Given the description of an element on the screen output the (x, y) to click on. 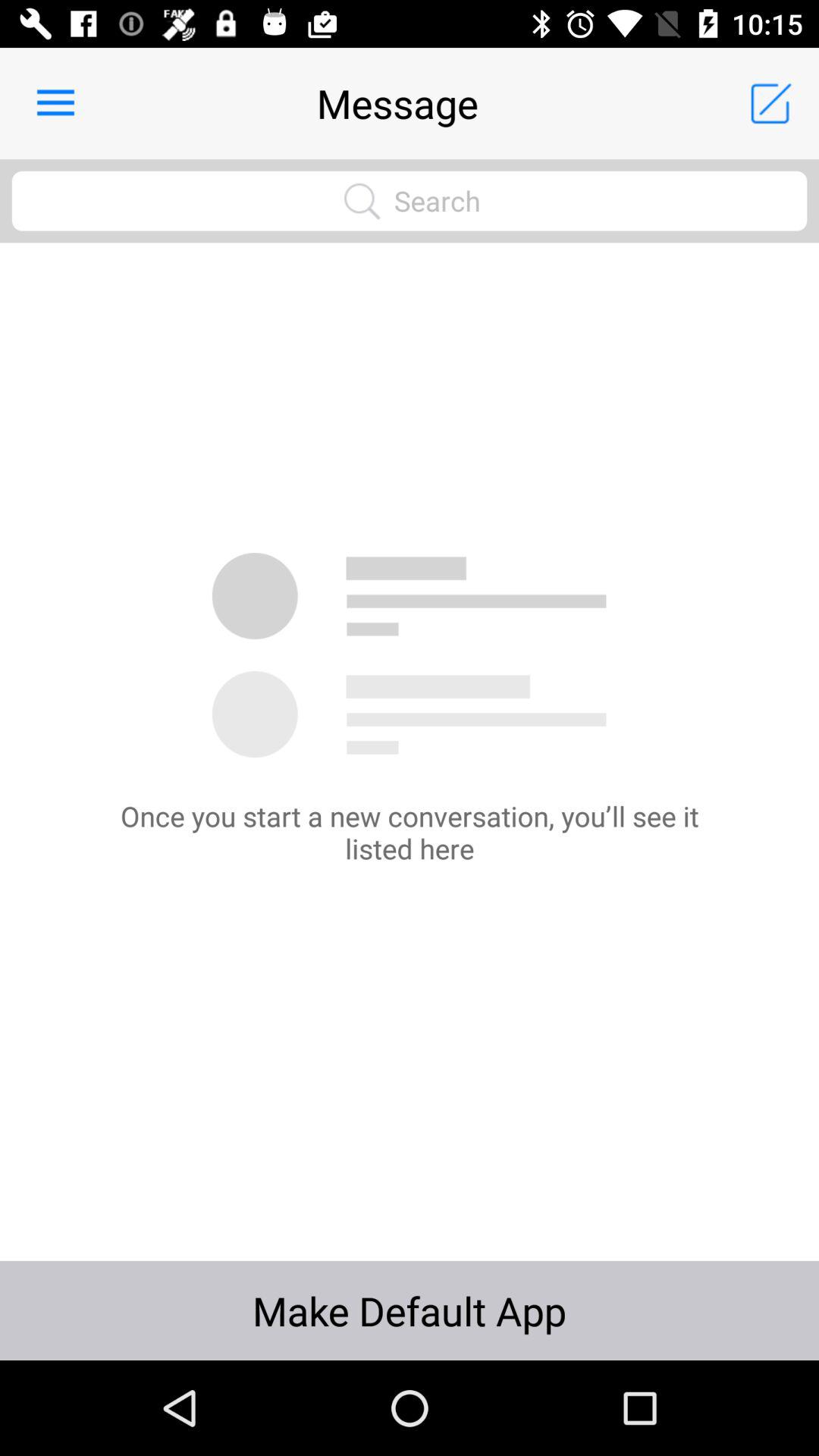
launch icon below the once you start icon (409, 1310)
